Given the description of an element on the screen output the (x, y) to click on. 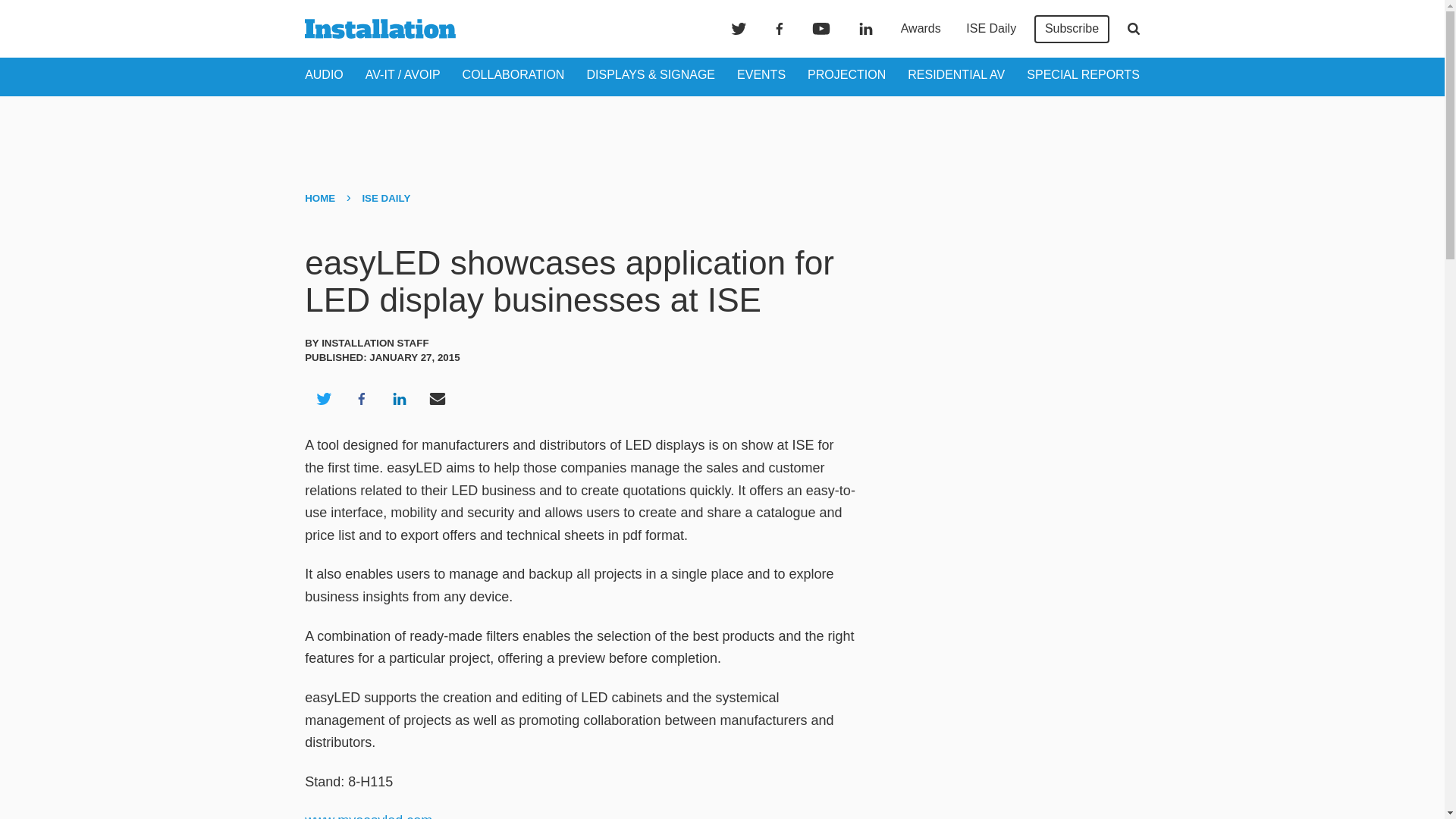
Awards (921, 29)
Share via Email (438, 398)
Share on LinkedIn (399, 398)
ISE Daily (990, 29)
Share on Twitter (323, 398)
AUDIO (323, 74)
Installation Staff's Author Profile (374, 342)
COLLABORATION (513, 74)
Share on Facebook (361, 398)
Subscribe (1071, 29)
